Given the description of an element on the screen output the (x, y) to click on. 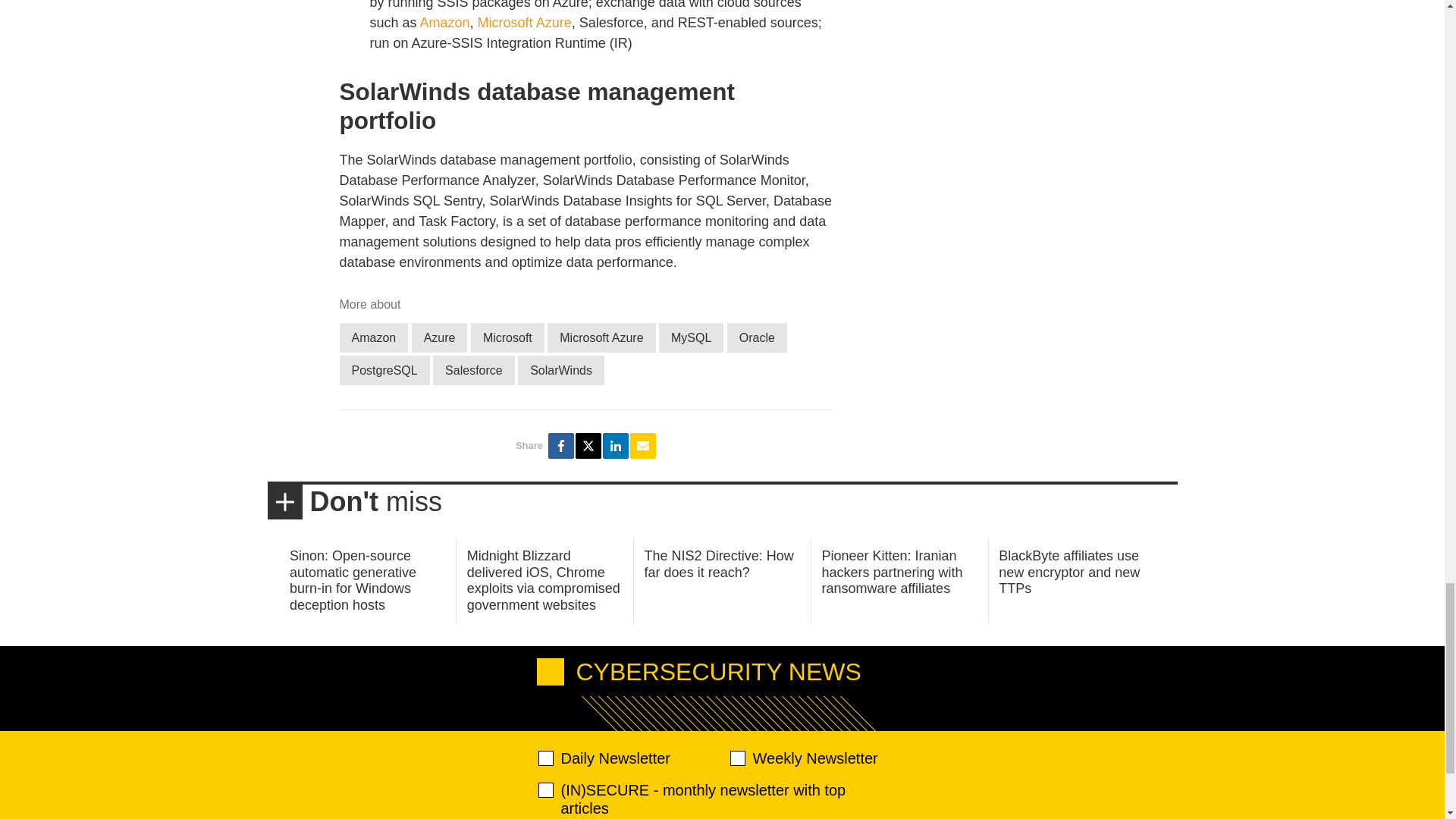
Amazon (374, 337)
Microsoft Azure (601, 337)
Microsoft Azure (601, 337)
Microsoft Azure (524, 22)
Oracle (756, 337)
Amazon (445, 22)
Oracle (756, 337)
d2d471aafa (736, 758)
Azure (439, 337)
Salesforce (473, 369)
